Given the description of an element on the screen output the (x, y) to click on. 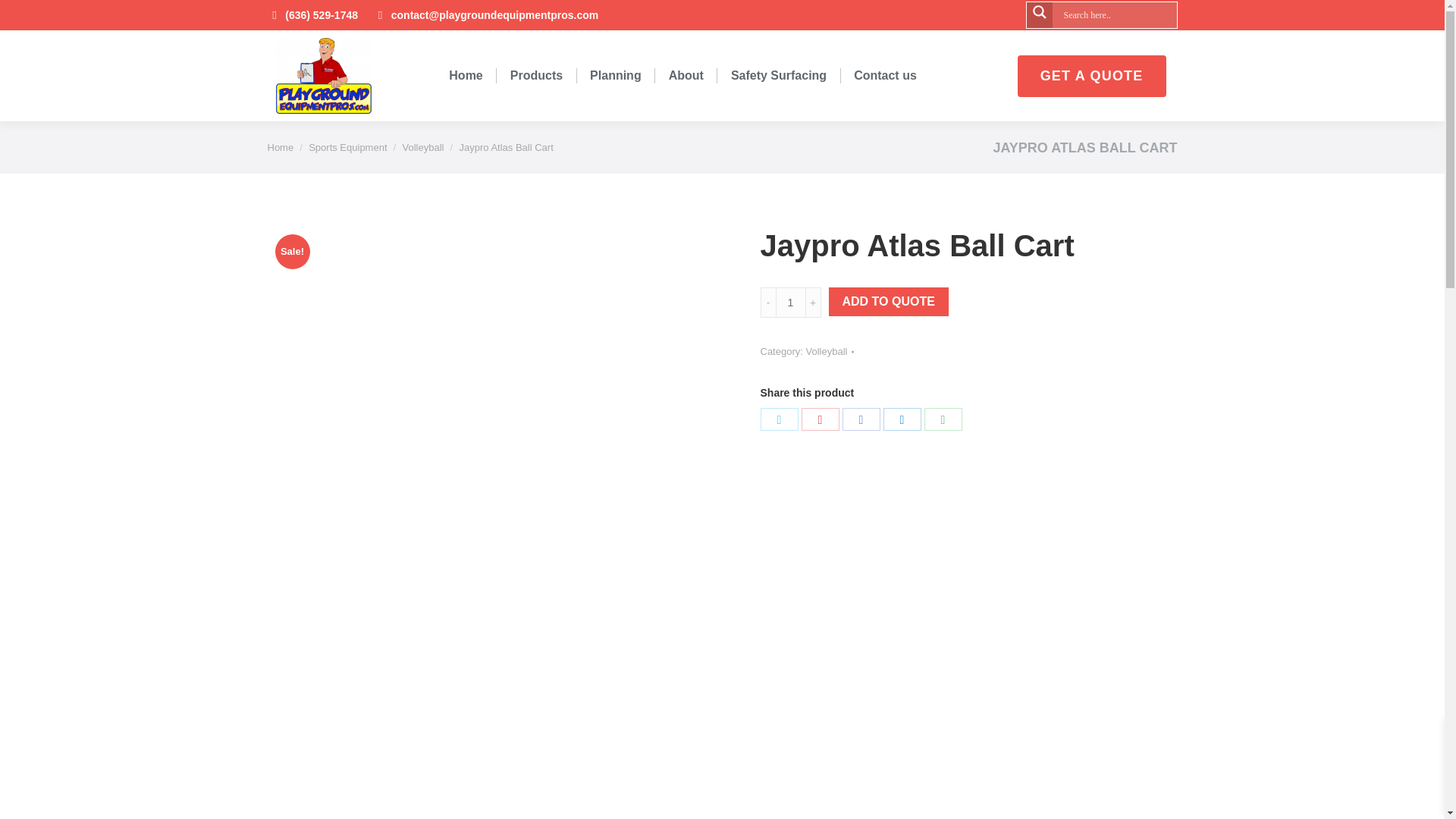
Qty (789, 302)
1 (789, 302)
Volleyball (423, 147)
Facebook (860, 418)
LinkedIn (901, 418)
Pinterest (819, 418)
Twitter (778, 418)
Home (280, 147)
WhatsApp (941, 418)
Sports Equipment (347, 147)
